Given the description of an element on the screen output the (x, y) to click on. 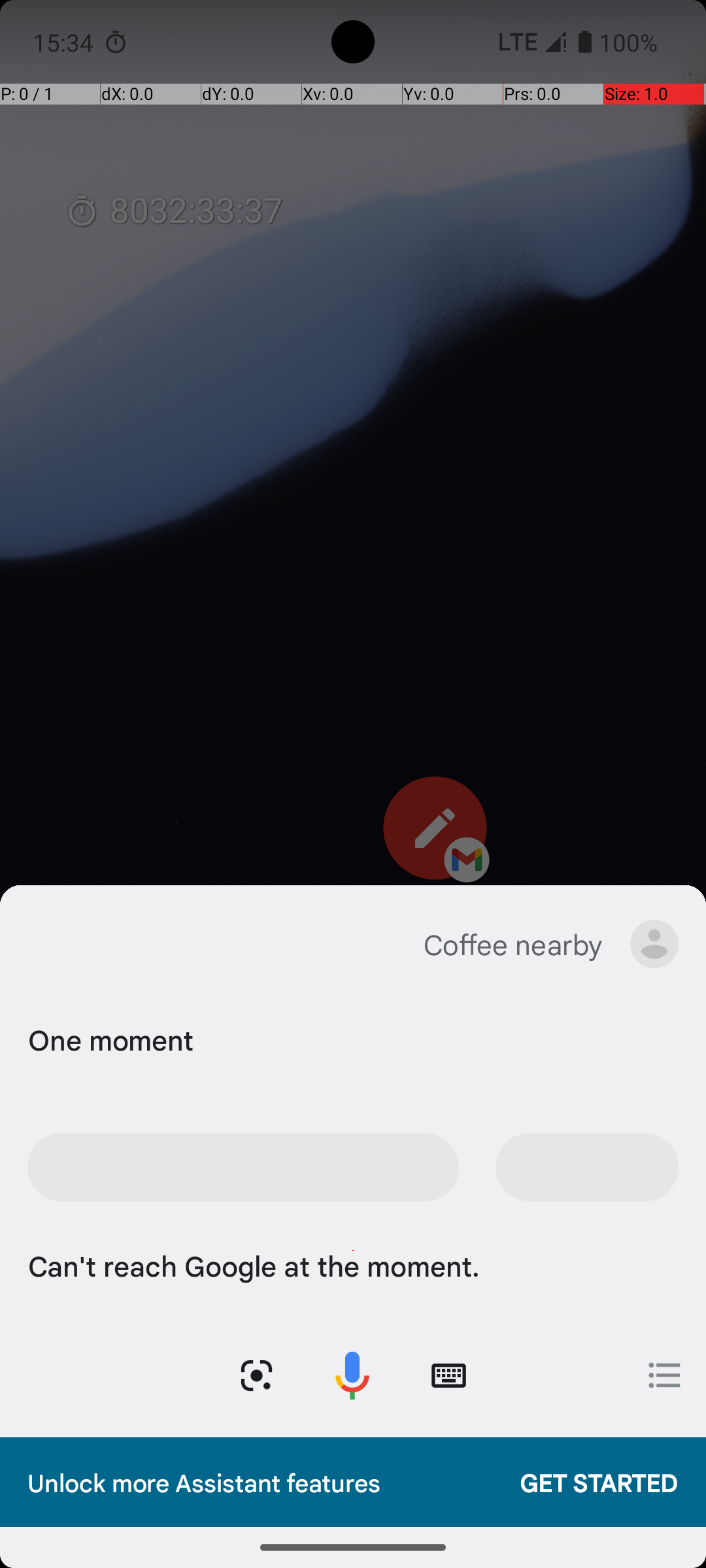
Voice search button, tap to speak Element type: android.view.View (351, 1375)
Unlock more Assistant features Element type: android.widget.TextView (259, 1481)
GET STARTED Element type: android.widget.TextView (585, 1481)
Google assistant Element type: android.widget.ImageView (48, 943)
Coffee nearby Element type: com.google.android.apps.gsa.searchplate.widget.StreamingTextView (512, 943)
Google Assistant menu. Element type: android.widget.ImageView (654, 943)
One moment Element type: android.widget.TextView (349, 1038)
Can't reach Google at the moment. Element type: android.widget.TextView (349, 1264)
